Given the description of an element on the screen output the (x, y) to click on. 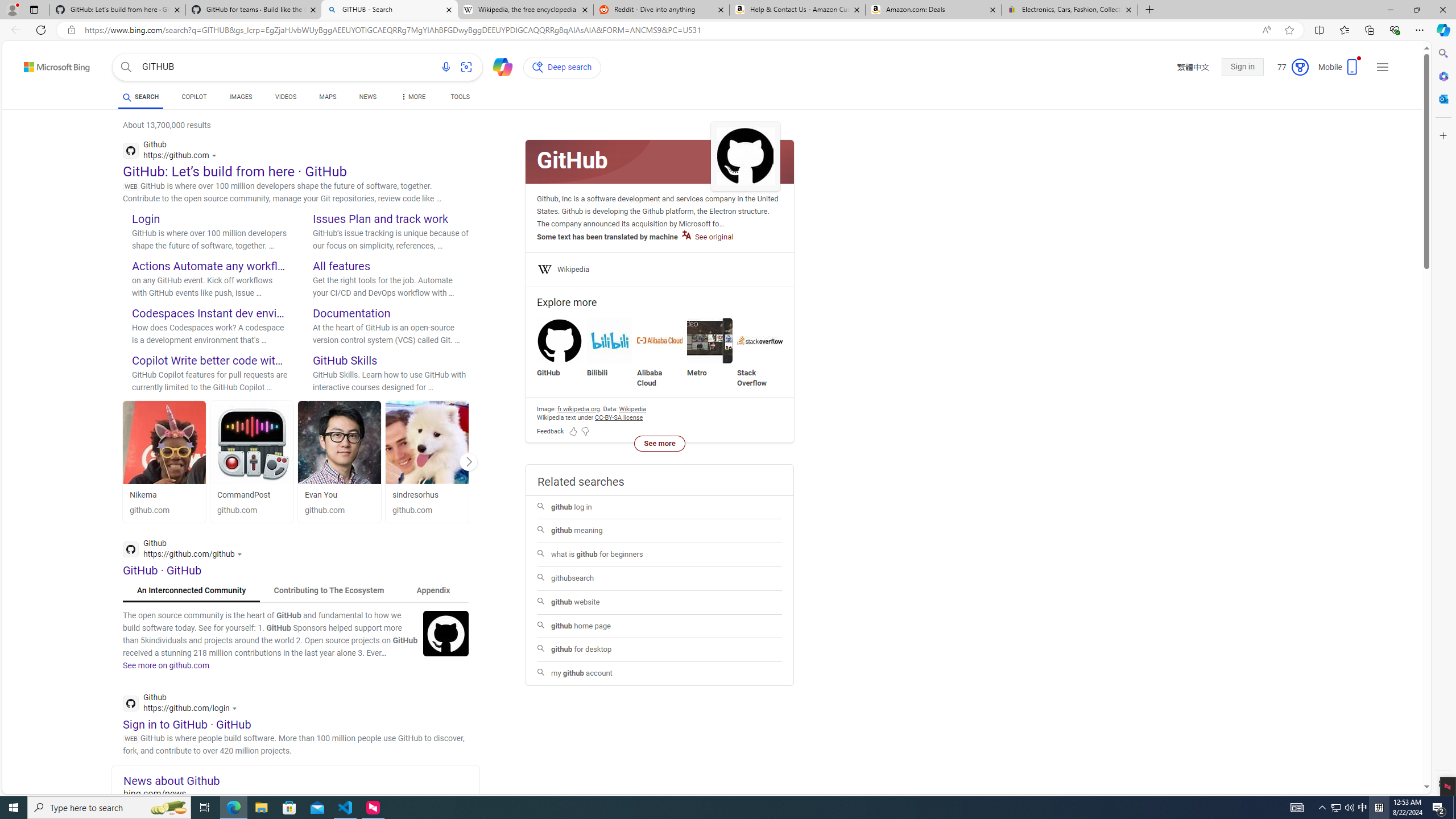
See more images of GitHub (745, 156)
Back to Bing search (50, 64)
Sign in (1242, 67)
github meaning (659, 531)
Documentation (351, 313)
NEWS (367, 96)
Image (445, 633)
